Given the description of an element on the screen output the (x, y) to click on. 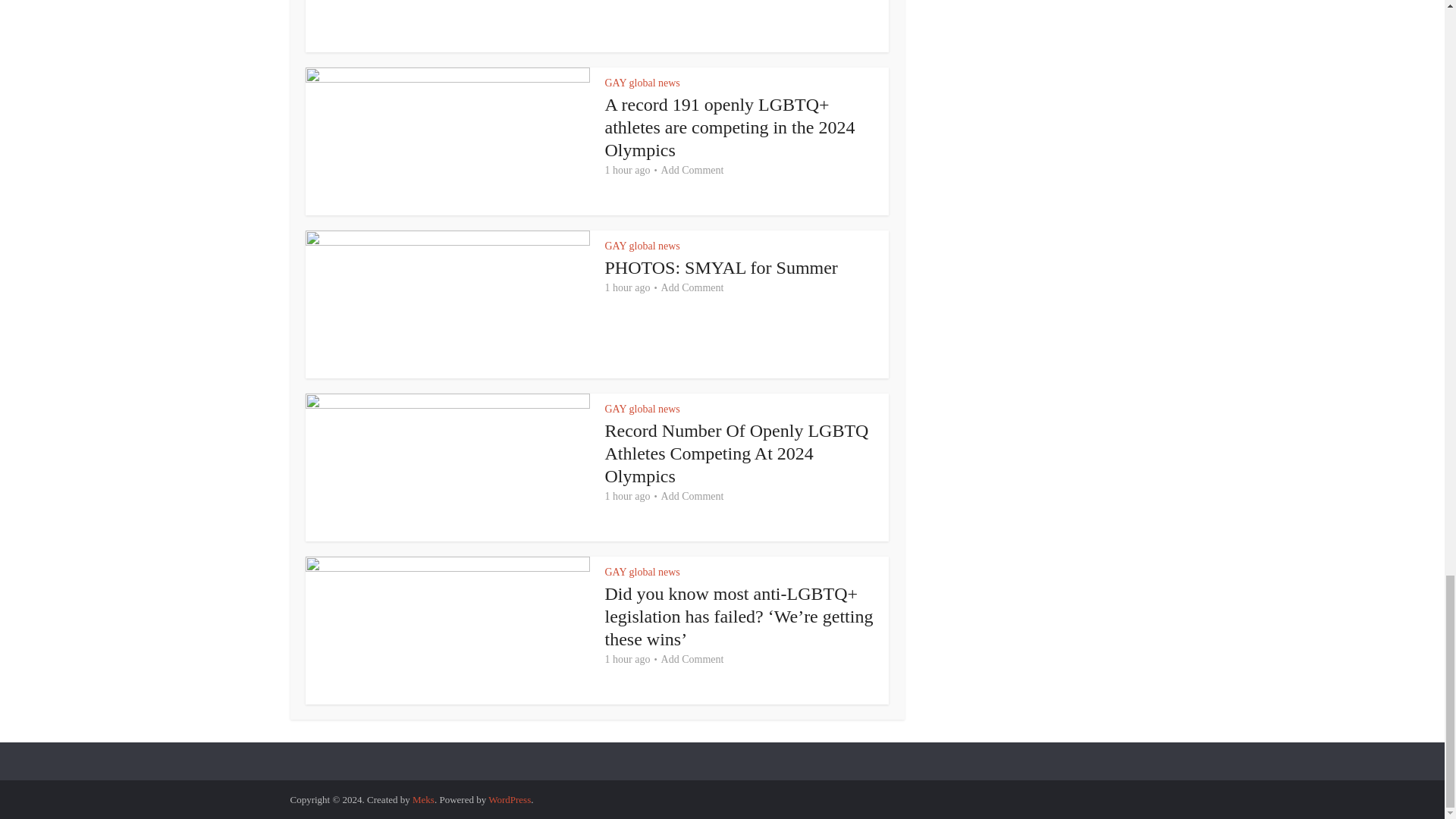
PHOTOS: SMYAL for Summer (721, 267)
